Given the description of an element on the screen output the (x, y) to click on. 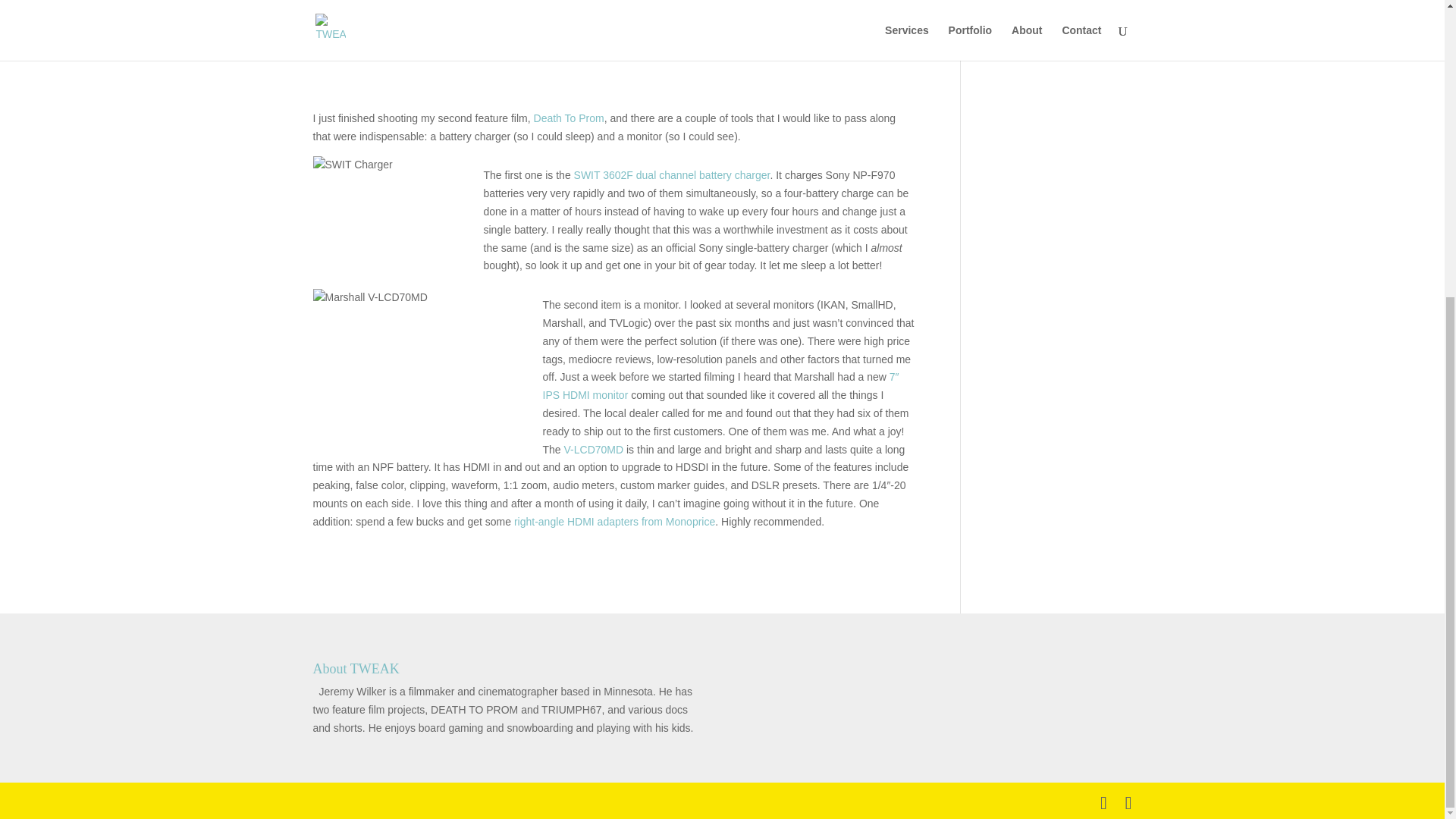
switcharger.jpg (392, 222)
Death To Prom (569, 118)
V-LCD70MD (594, 449)
marshalllcd70md.jpg (422, 373)
SWIT 3602F dual channel battery charger (671, 174)
Right-angle HDMI Adapters from Monoprice (613, 521)
right-angle HDMI adapters from Monoprice (613, 521)
